Given the description of an element on the screen output the (x, y) to click on. 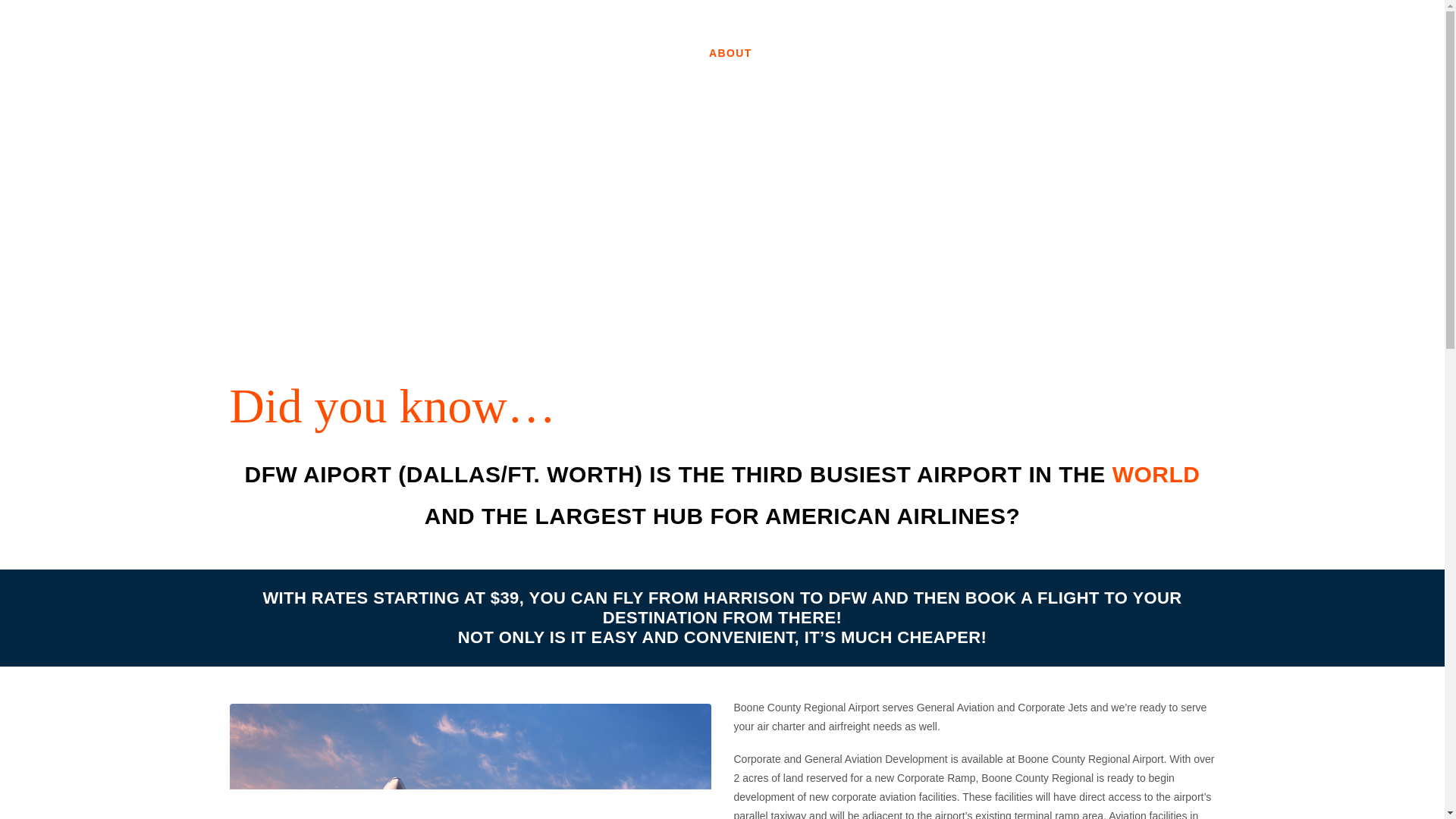
FLIGHT SCHOOL (1174, 53)
RENTAL CARS (909, 53)
CONTACT US (1283, 53)
FLIGHT INFO (809, 53)
